Given the description of an element on the screen output the (x, y) to click on. 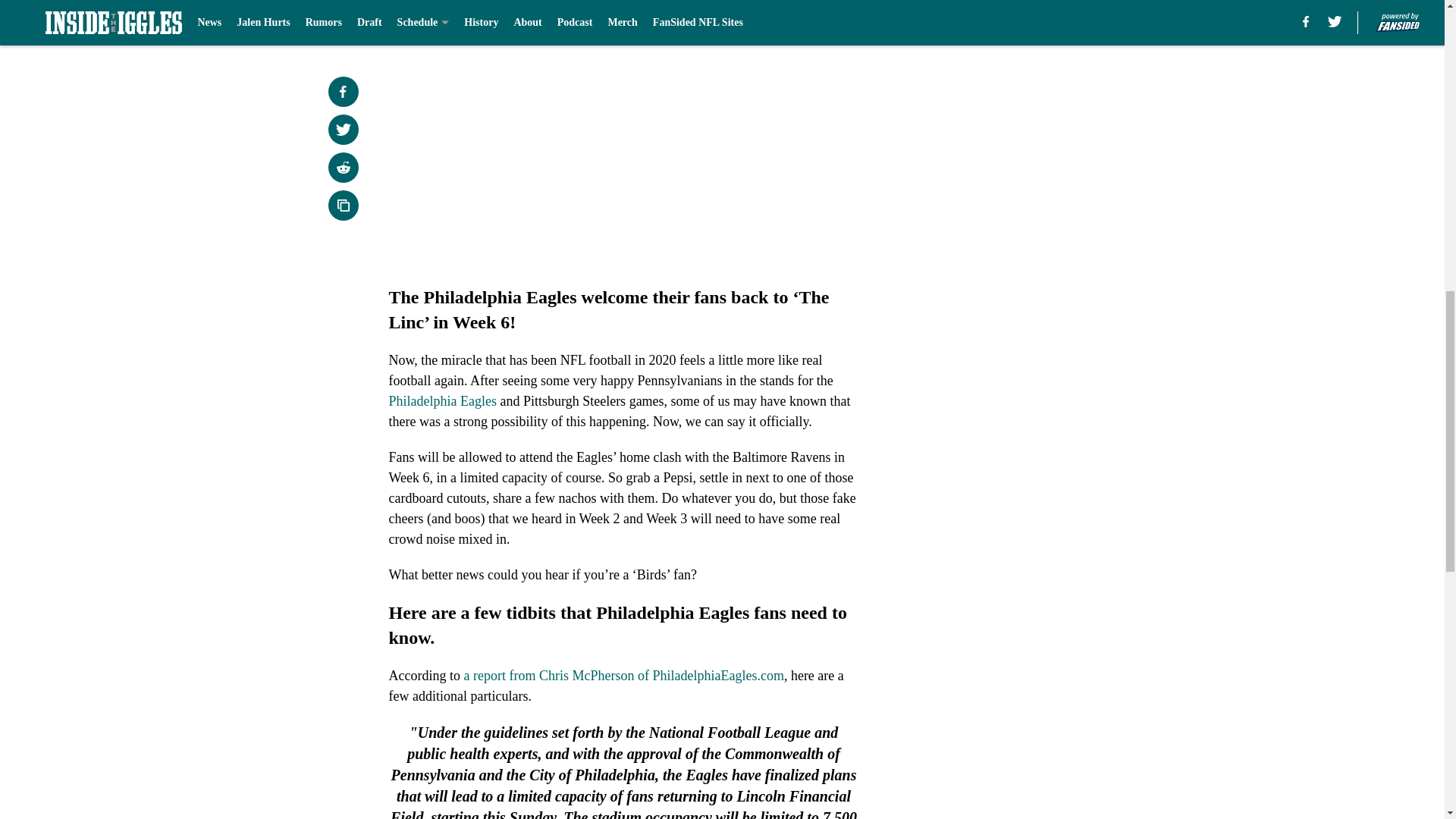
Philadelphia Eagles (442, 400)
a report from Chris McPherson of PhiladelphiaEagles.com (623, 675)
